Given the description of an element on the screen output the (x, y) to click on. 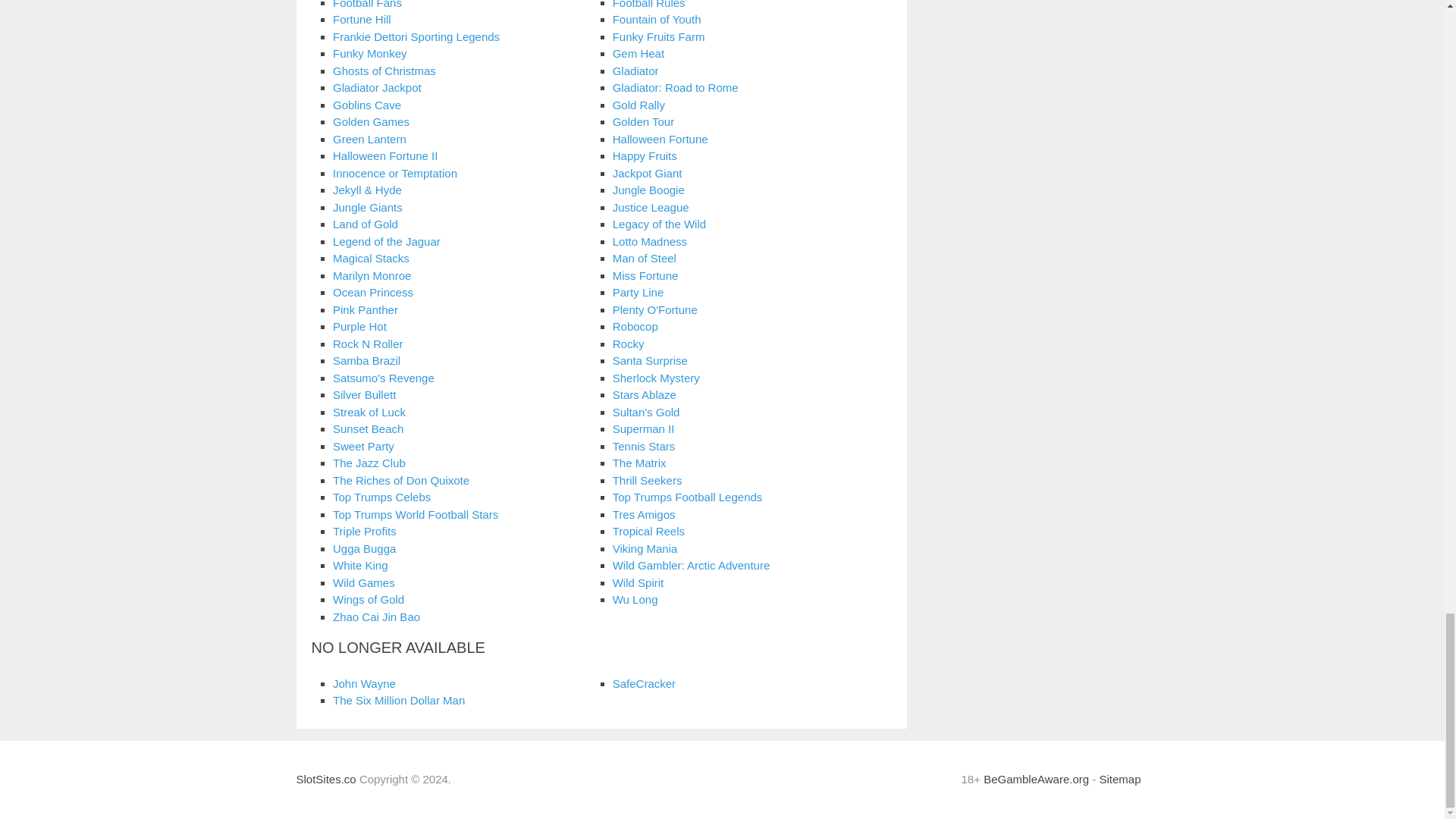
Play Online Slots For Real Money (325, 779)
